Given the description of an element on the screen output the (x, y) to click on. 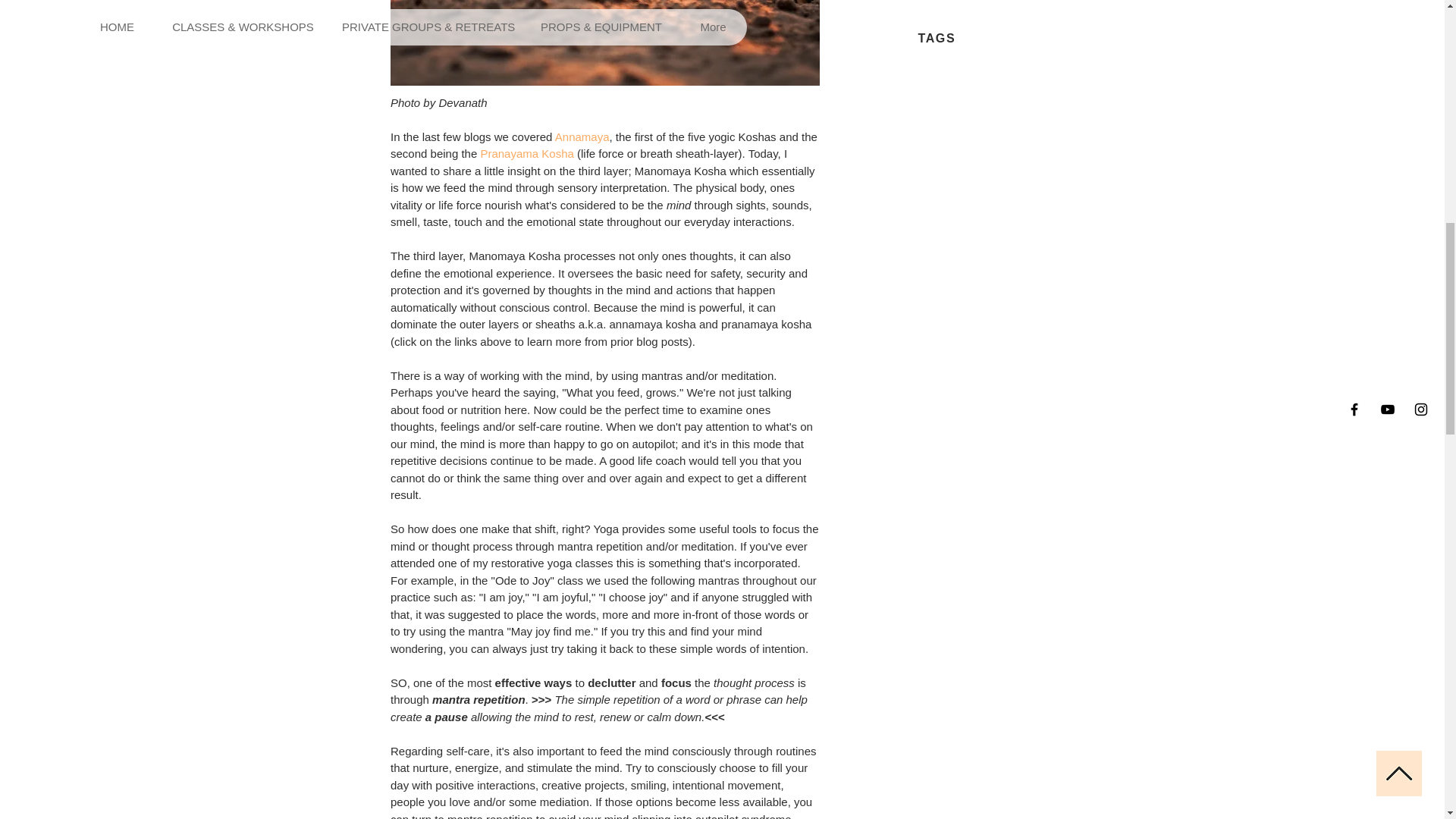
Pranayama Kosha (526, 153)
Annamaya (581, 136)
